Given the description of an element on the screen output the (x, y) to click on. 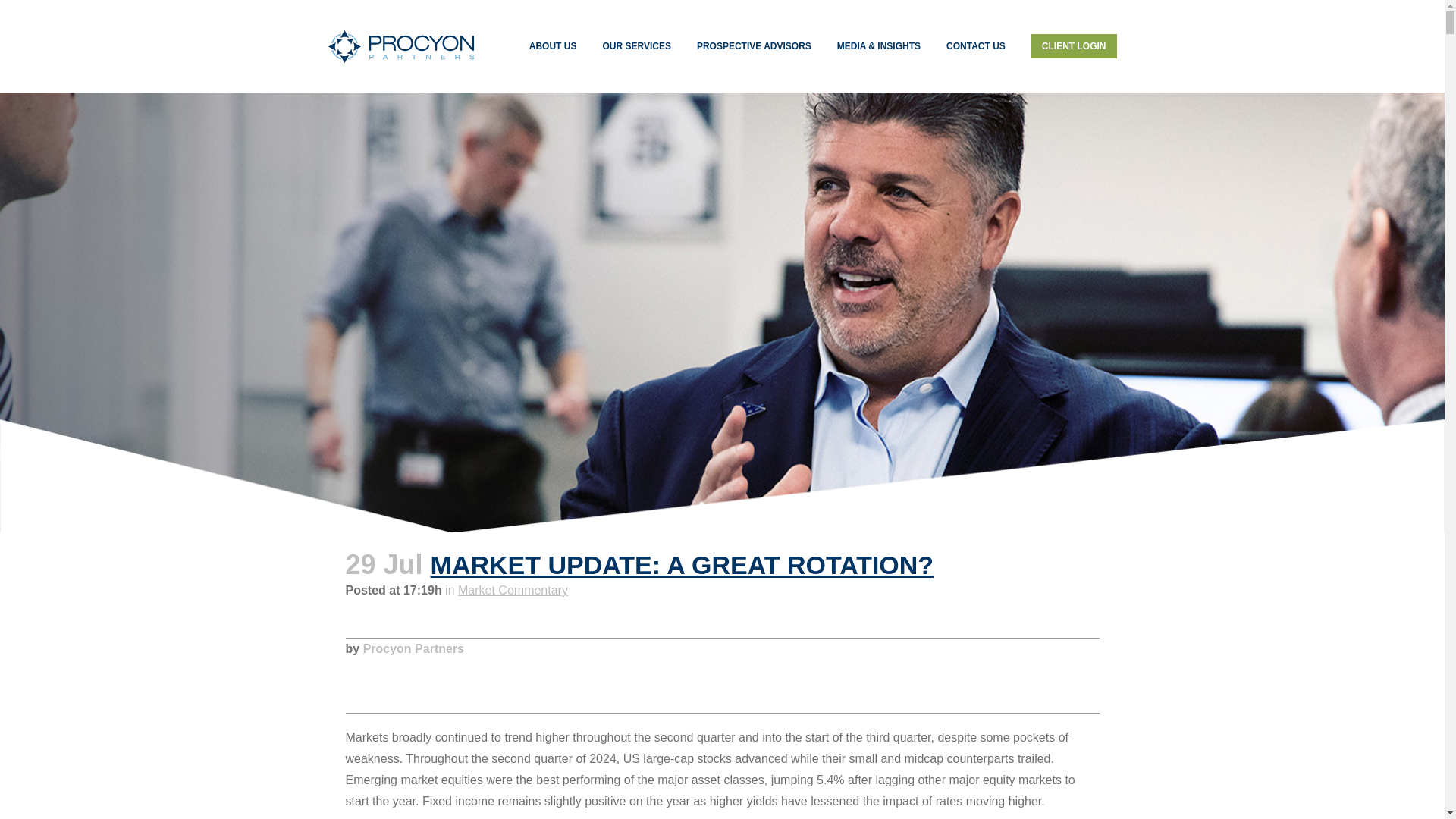
Procyon Partners (413, 648)
CLIENT LOGIN (1066, 46)
CONTACT US (975, 46)
Market Commentary (512, 590)
MARKET UPDATE: A GREAT ROTATION? (682, 564)
MARKET UPDATE: A GREAT ROTATION? (682, 564)
PROSPECTIVE ADVISORS (754, 46)
OUR SERVICES (635, 46)
